Given the description of an element on the screen output the (x, y) to click on. 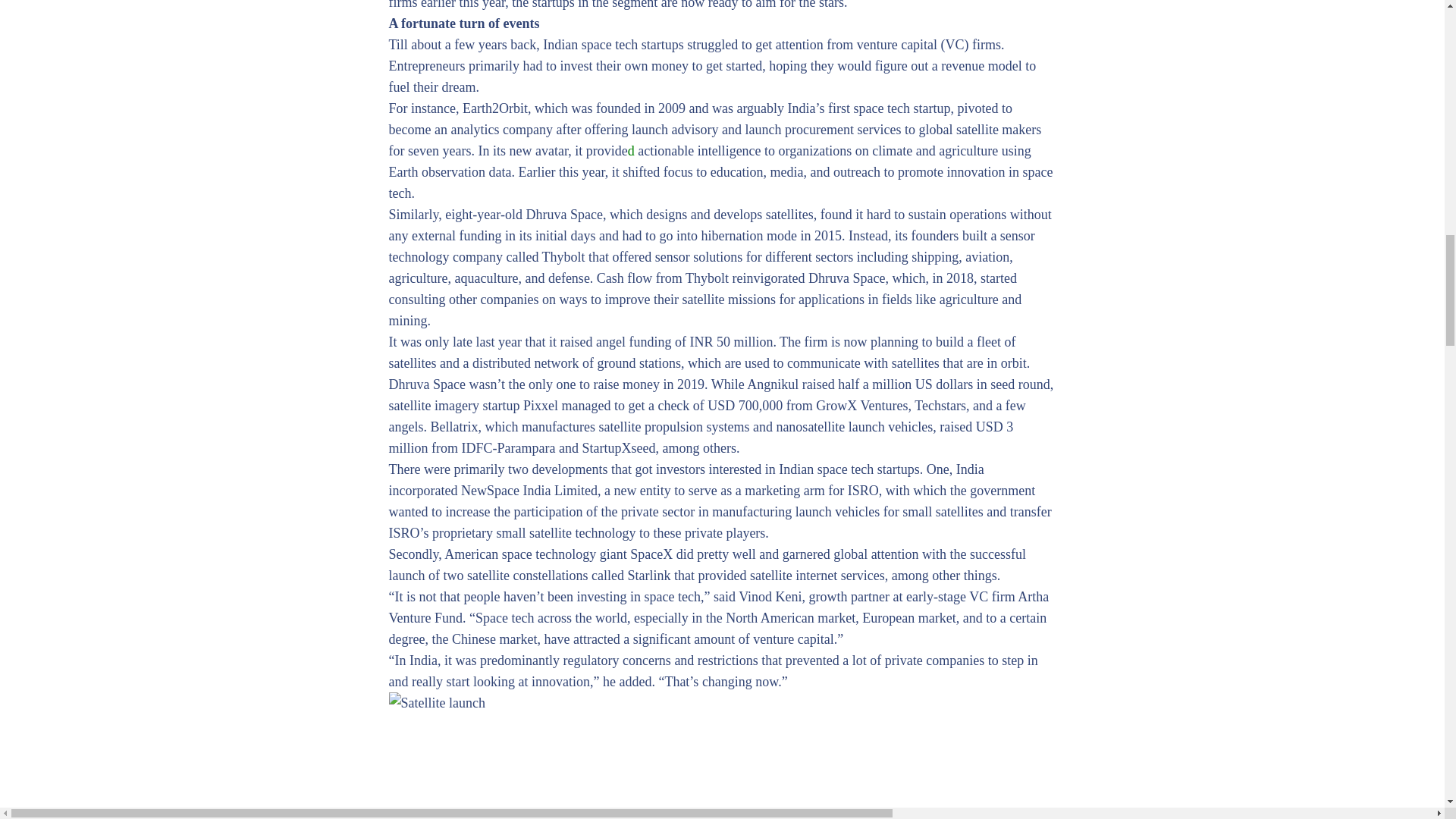
INR 50 million (730, 341)
USD 3 million (700, 437)
hibernation mode (748, 235)
